Given the description of an element on the screen output the (x, y) to click on. 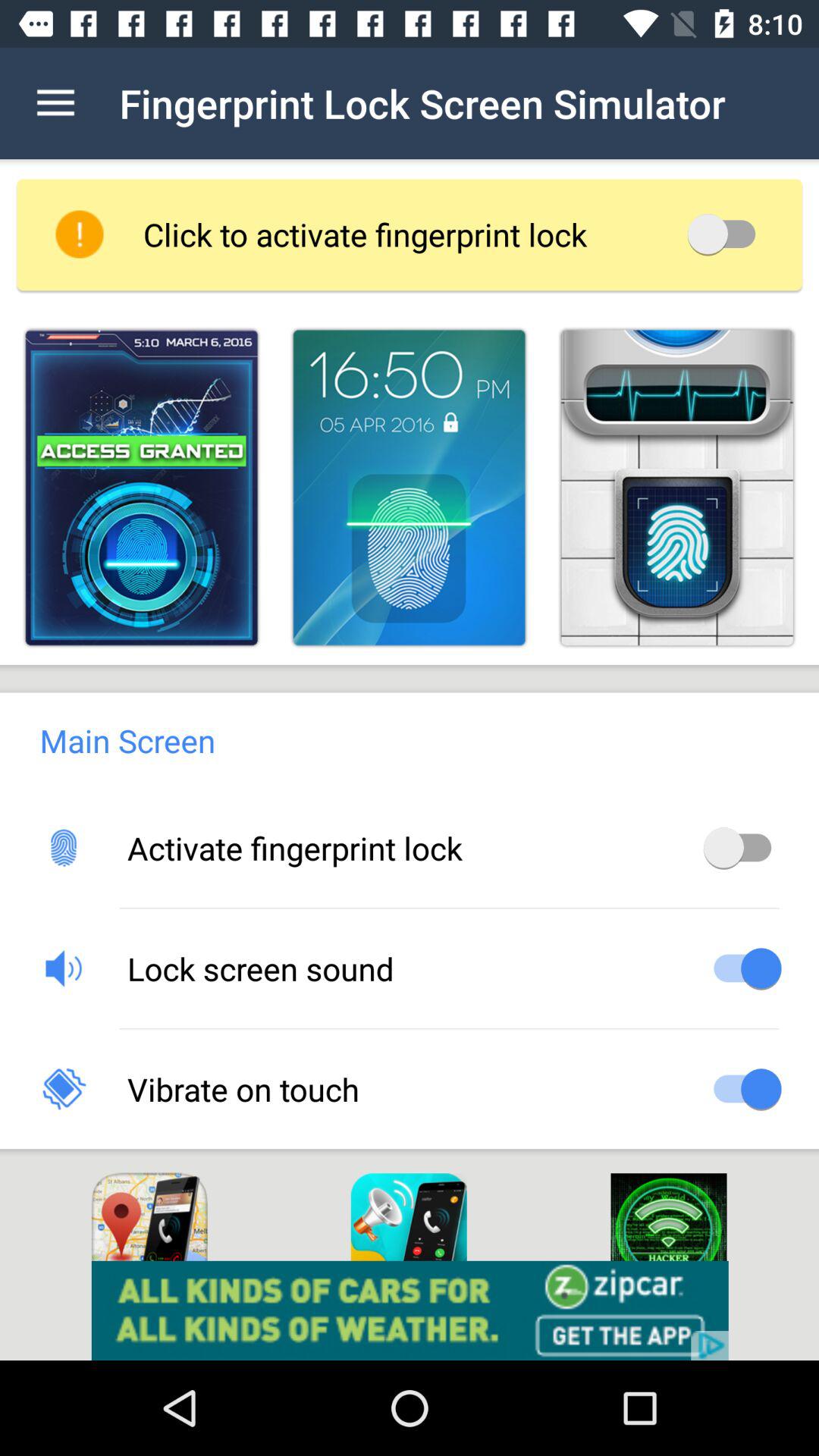
fingerprint button (141, 487)
